Given the description of an element on the screen output the (x, y) to click on. 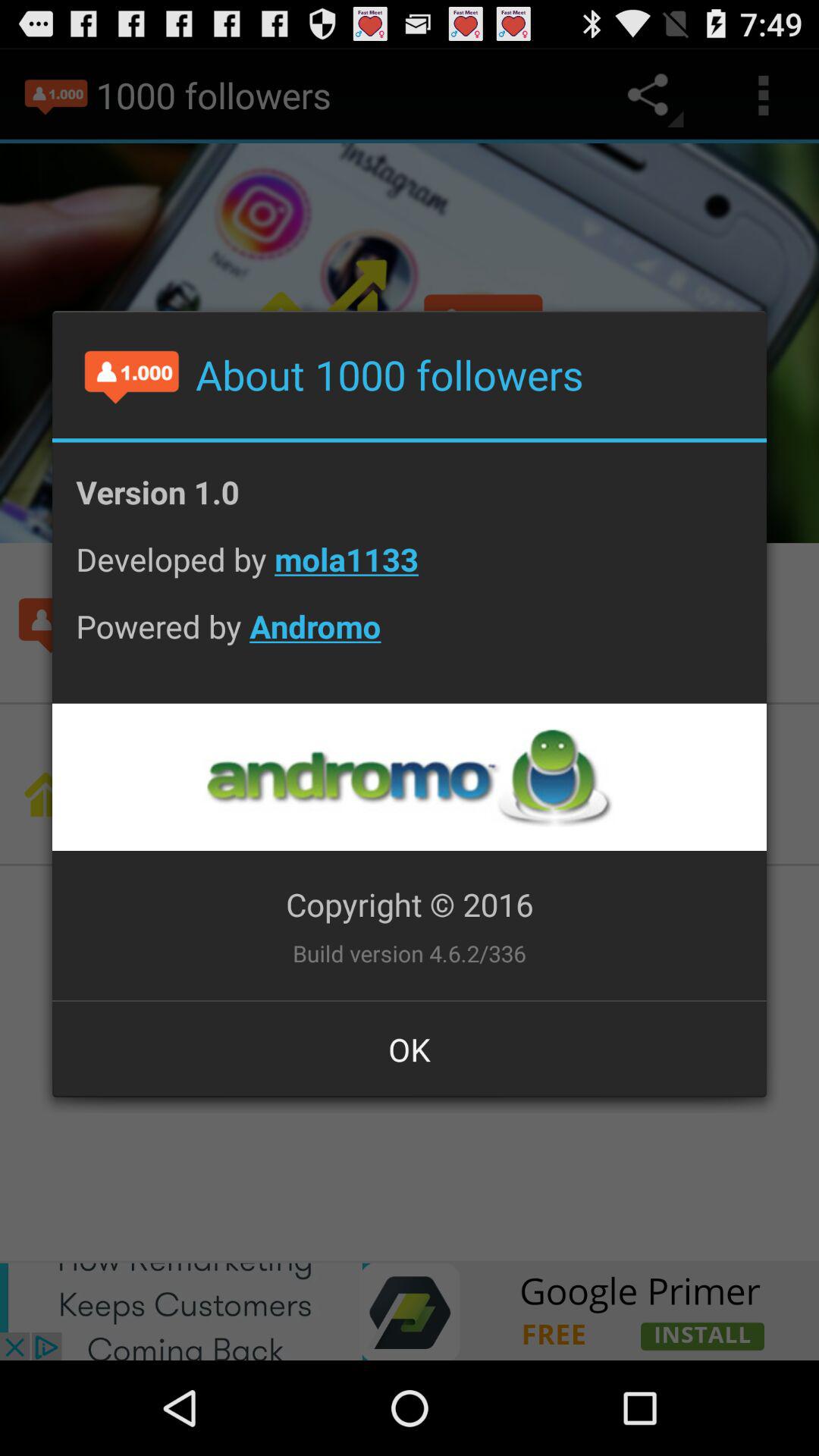
scroll until ok (409, 1049)
